Given the description of an element on the screen output the (x, y) to click on. 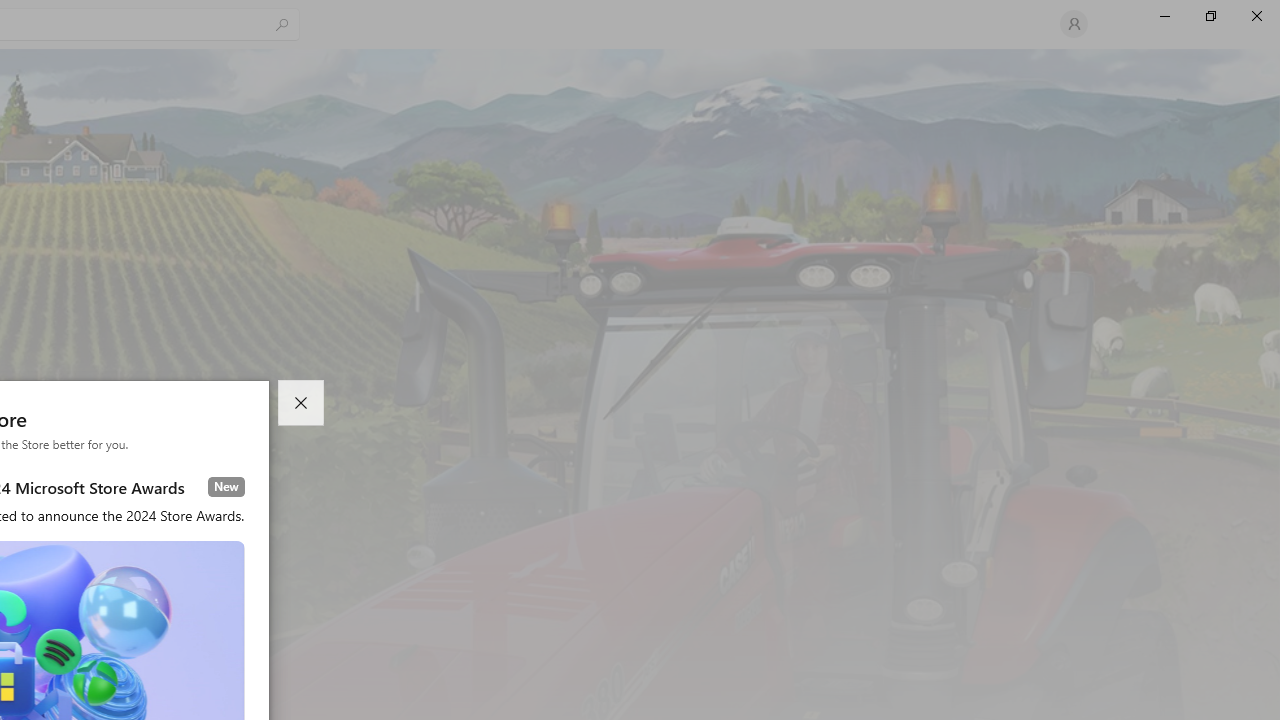
Close dialog (300, 403)
